Given the description of an element on the screen output the (x, y) to click on. 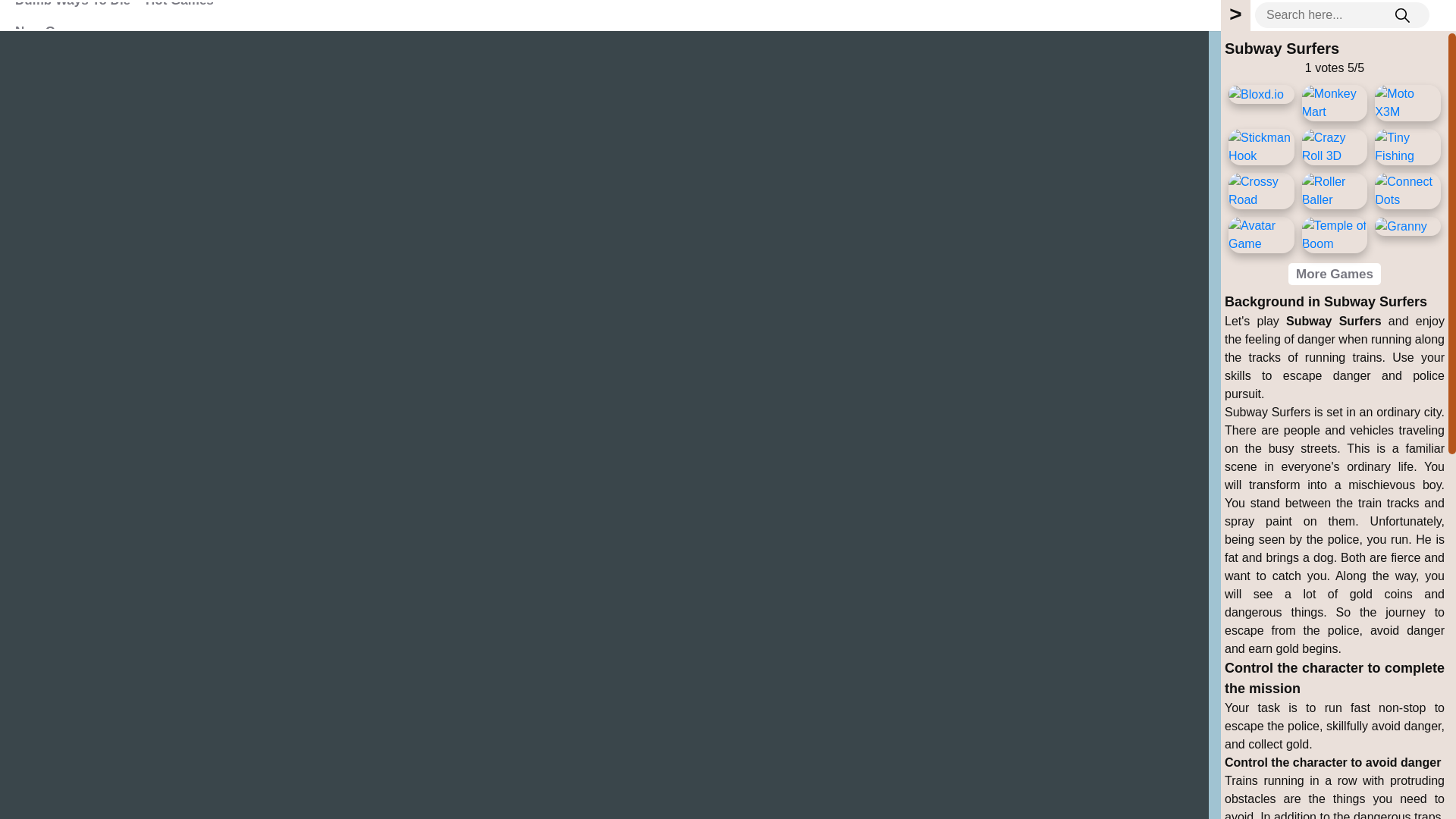
Avatar Game (1261, 235)
More Games (1334, 273)
Roller Baller (1334, 190)
Bloxd.io (1256, 94)
Crazy Roll 3D (1334, 146)
Tiny Fishing  (1407, 146)
Dumb Ways To Die (72, 5)
Granny (1400, 226)
Monkey Mart  (1334, 103)
Hot Games (179, 5)
Temple of Boom (1334, 235)
More Games (1334, 273)
Stickman Hook (1261, 146)
Moto X3M (1407, 103)
New Games (51, 30)
